Given the description of an element on the screen output the (x, y) to click on. 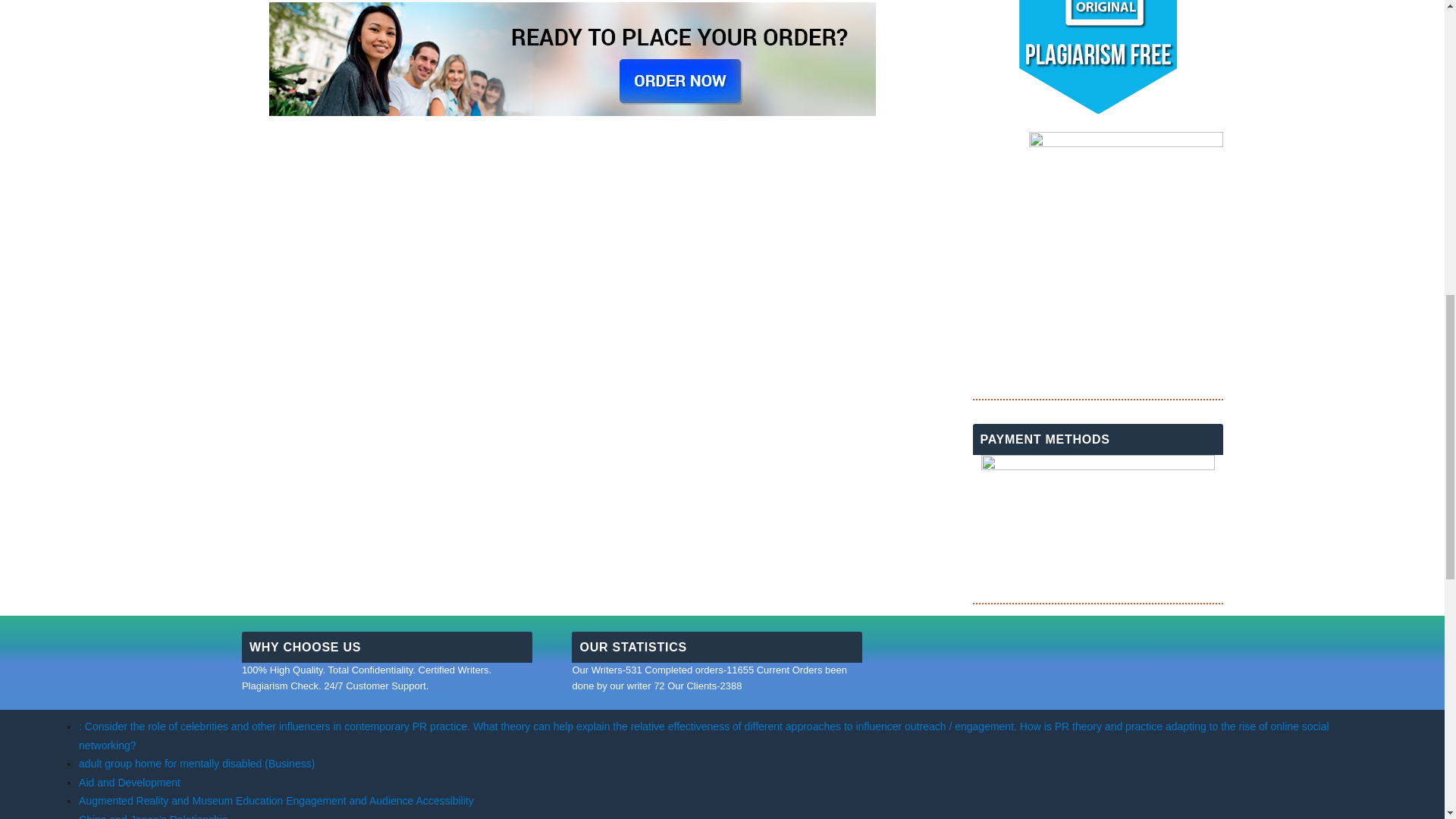
Aid and Development (129, 782)
